Given the description of an element on the screen output the (x, y) to click on. 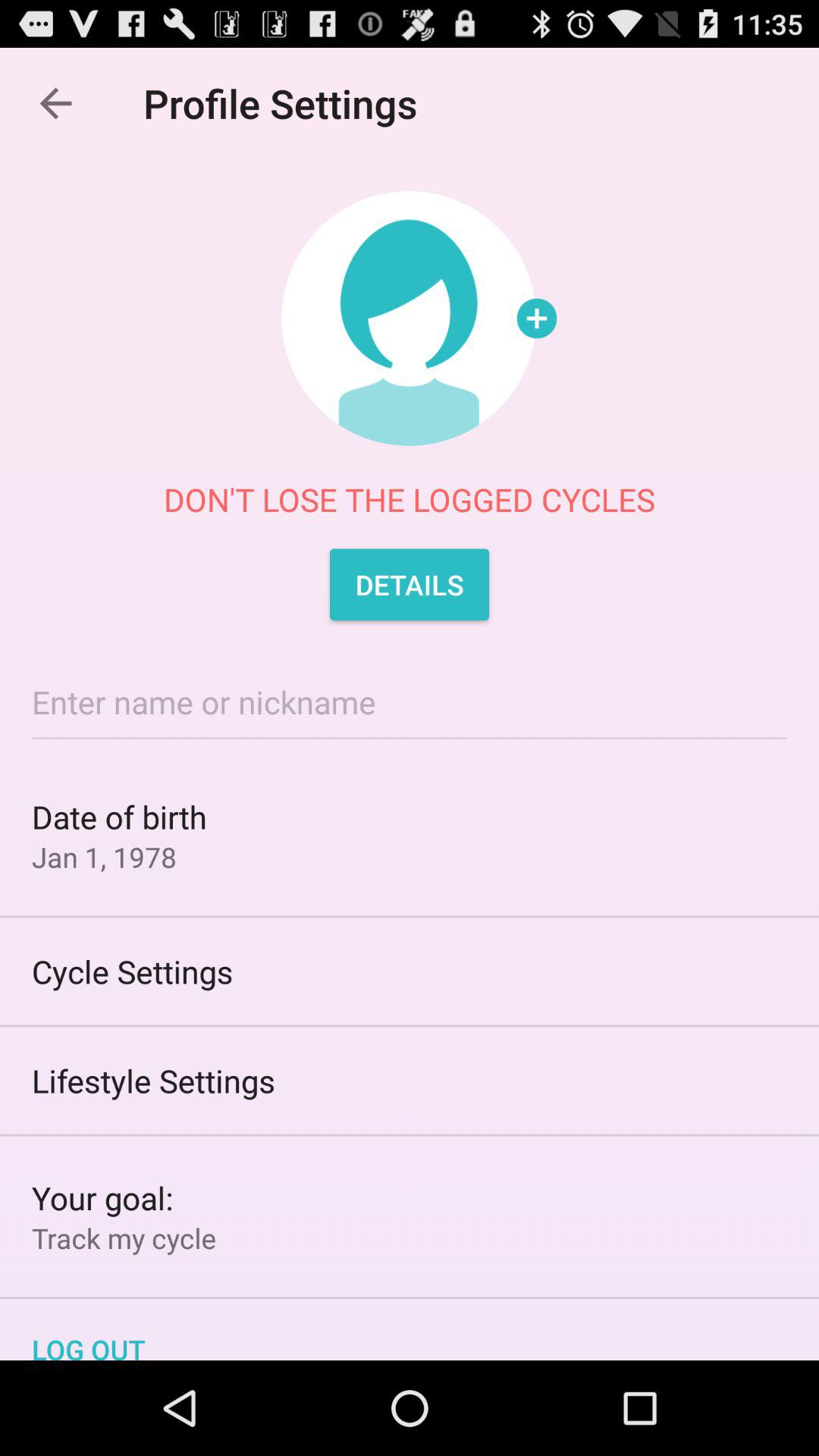
press the icon to the left of the profile settings icon (55, 103)
